Given the description of an element on the screen output the (x, y) to click on. 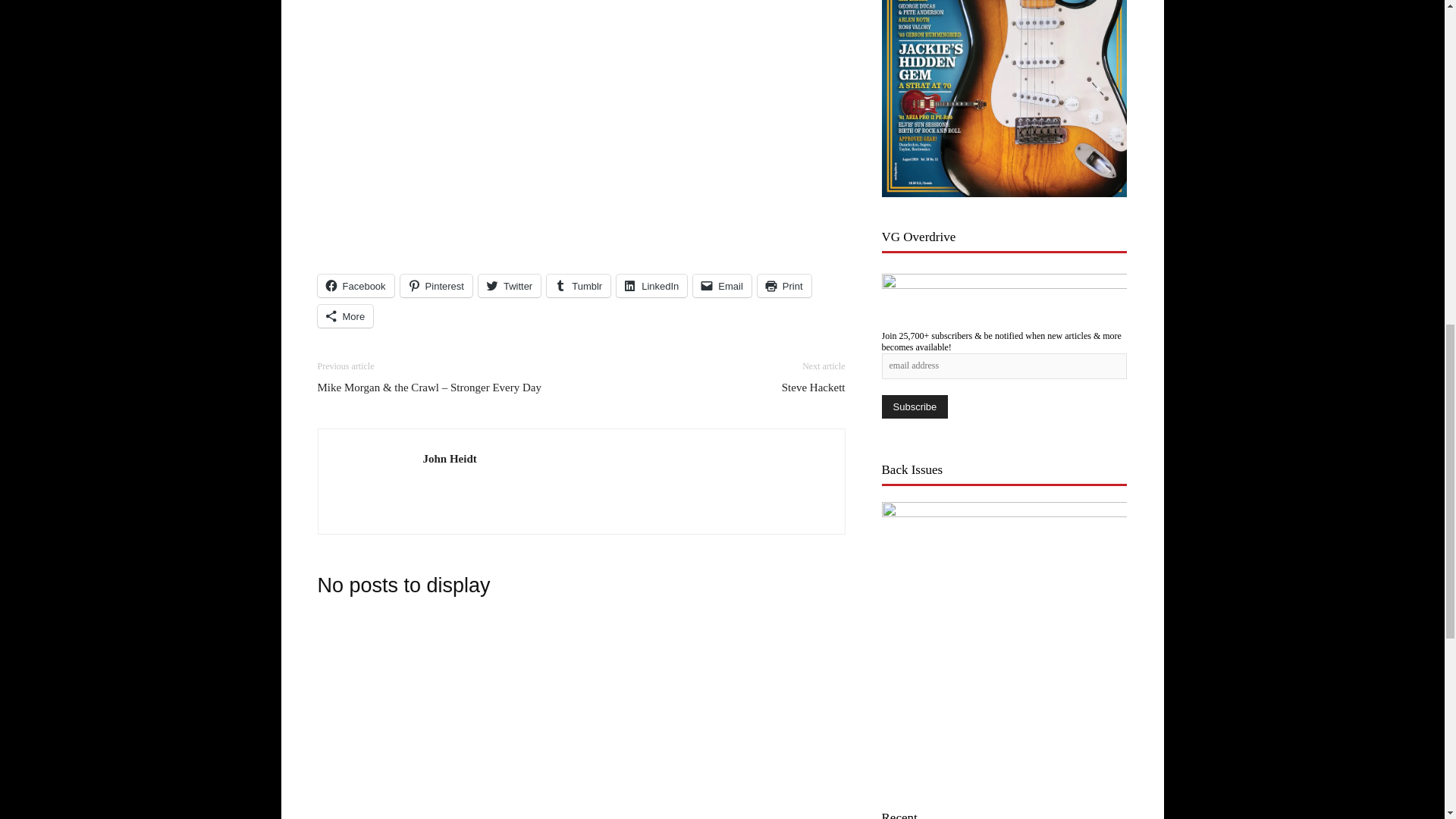
Click to share on Facebook (355, 285)
Subscribe (913, 406)
Click to share on Pinterest (435, 285)
Click to share on Twitter (509, 285)
Click to share on Tumblr (578, 285)
